Given the description of an element on the screen output the (x, y) to click on. 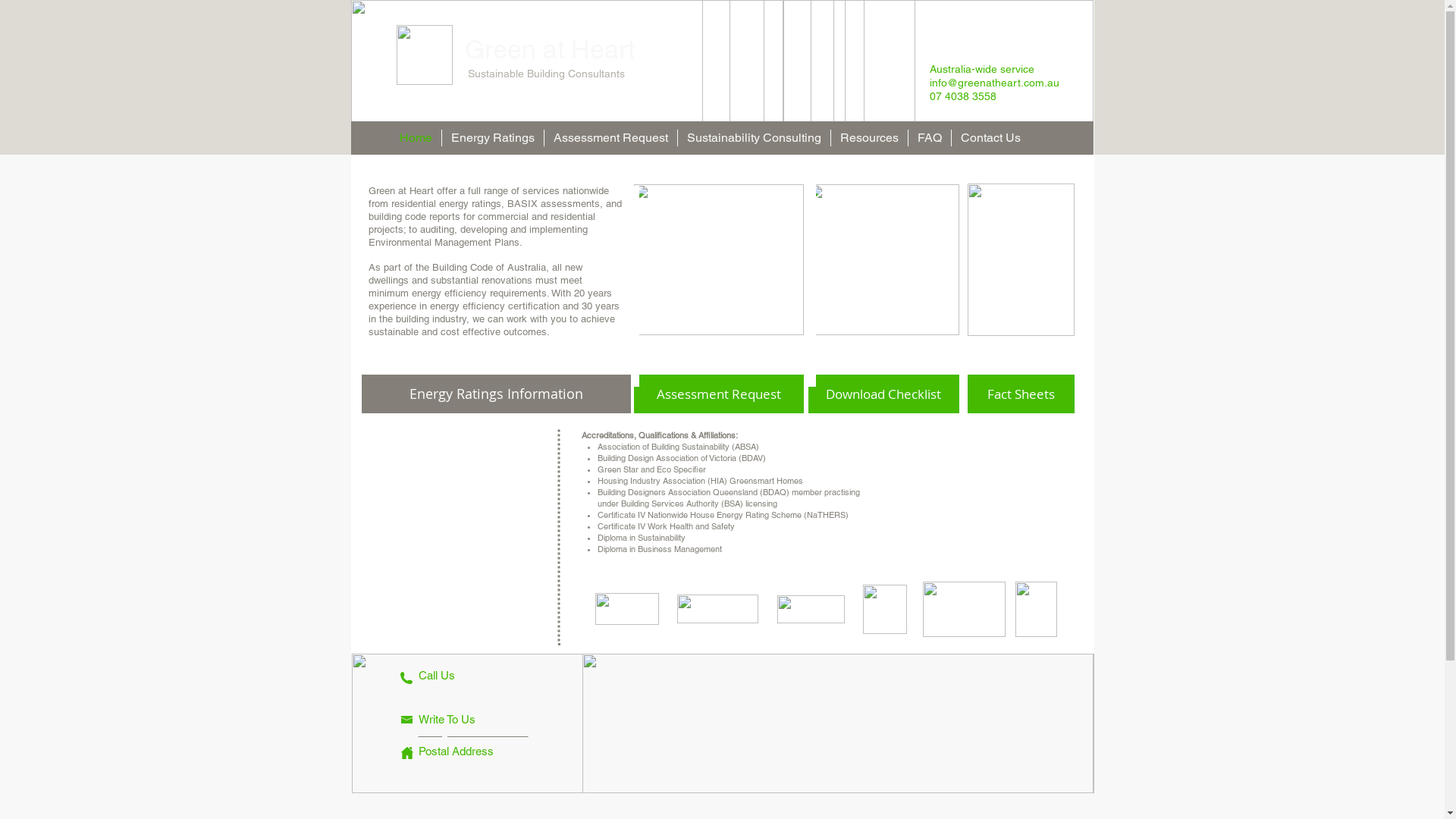
info@greenatheart.com.au Element type: text (473, 731)
FAQ Element type: text (929, 137)
Assessment Request Element type: text (610, 137)
Forest Trees Element type: hover (837, 723)
Fact Sheets Element type: text (1020, 393)
Energy Ratings Information Element type: text (495, 393)
Edited Image 2016-02-18 03-15-00 Element type: hover (722, 723)
skitterphoto.com_That-sweet-summer-feeling-980x652_2.jpg Element type: hover (883, 259)
Sustainability Consulting Element type: text (753, 137)
Assessment Request Element type: text (718, 393)
info@greenatheart.com.au Element type: text (994, 82)
Energy Ratings Element type: text (491, 137)
 Sustainable Building Consultants Element type: text (544, 73)
Resources Element type: text (869, 137)
Download Checklist Element type: text (883, 393)
1R6A0191.jpg Element type: hover (718, 259)
Contact Us Element type: text (989, 137)
1R6A0029.jpg Element type: hover (1020, 259)
Home Element type: text (414, 137)
Edited Image 2016-02-18 03-15-00 Element type: hover (721, 64)
